Given the description of an element on the screen output the (x, y) to click on. 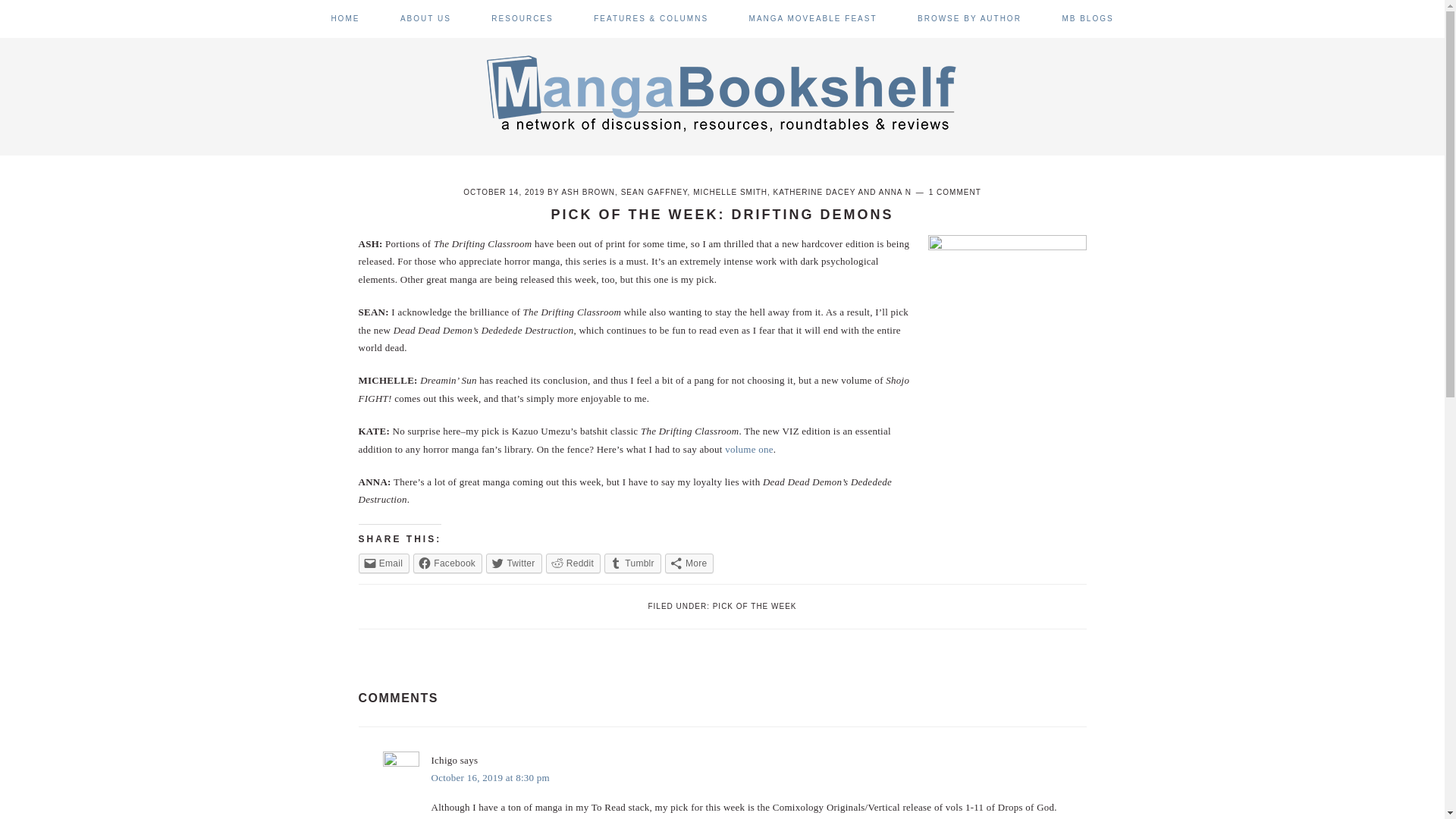
Posts by Anna N (895, 192)
Posts by Ash Brown (587, 192)
HOME (344, 18)
ABOUT US (425, 18)
MANGA MOVEABLE FEAST (813, 18)
RESOURCES (521, 18)
Click to share on Twitter (513, 563)
Click to email this to a friend (383, 563)
Click to share on Reddit (573, 563)
Posts by Katherine Dacey (814, 192)
Click to share on Tumblr (632, 563)
Click to share on Facebook (447, 563)
Posts by Sean Gaffney (654, 192)
Posts by Michelle Smith (730, 192)
